Given the description of an element on the screen output the (x, y) to click on. 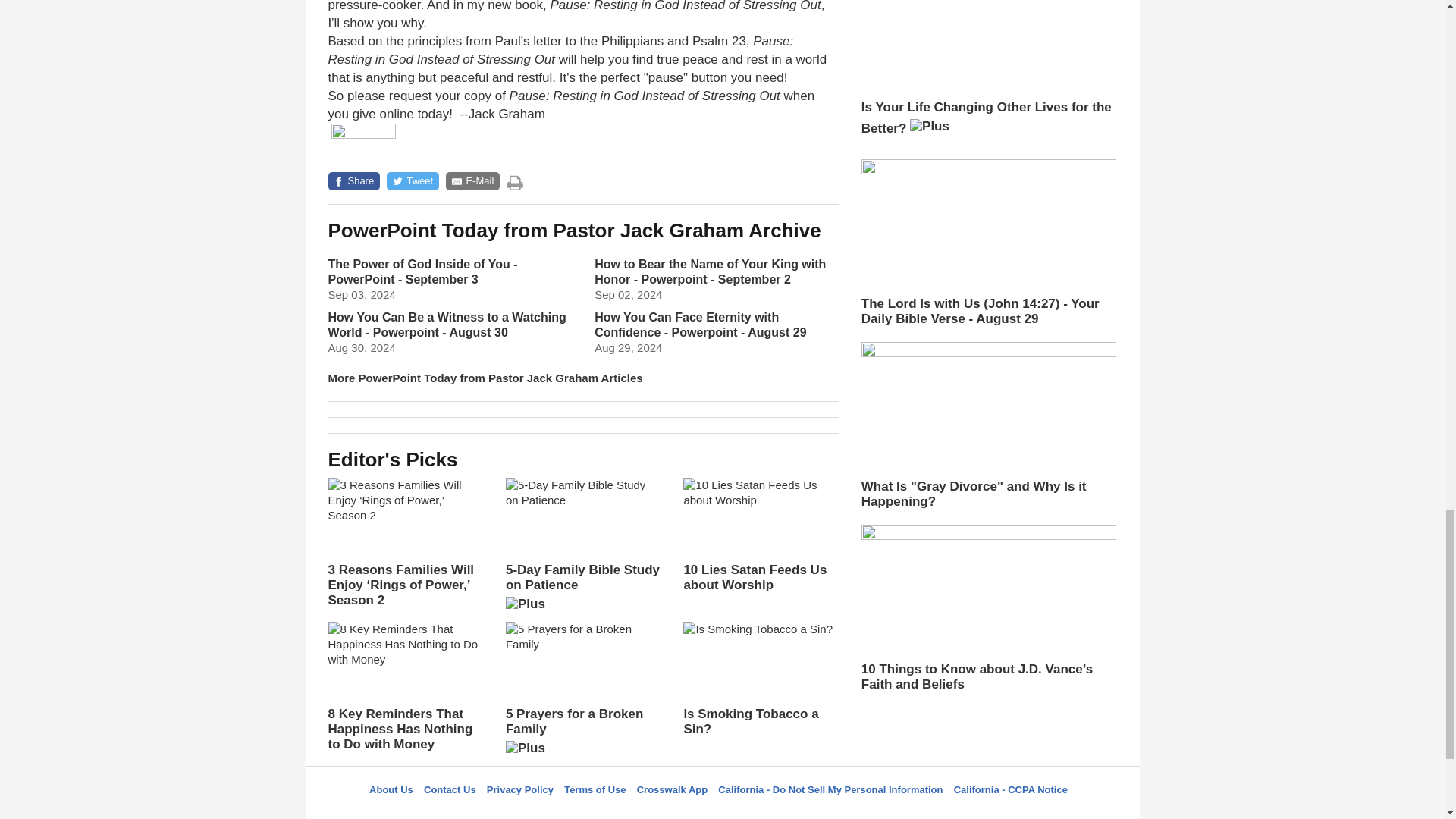
YouTube (795, 811)
Is Smoking Tobacco a Sin? (760, 679)
8 Key Reminders That Happiness Has Nothing to Do with Money (404, 686)
LifeAudio (719, 811)
5-Day Family Bible Study on Patience (583, 549)
Facebook (645, 811)
5 Prayers for a Broken Family (583, 693)
Twitter (683, 811)
10 Lies Satan Feeds Us about Worship (760, 534)
Pinterest (757, 811)
